Given the description of an element on the screen output the (x, y) to click on. 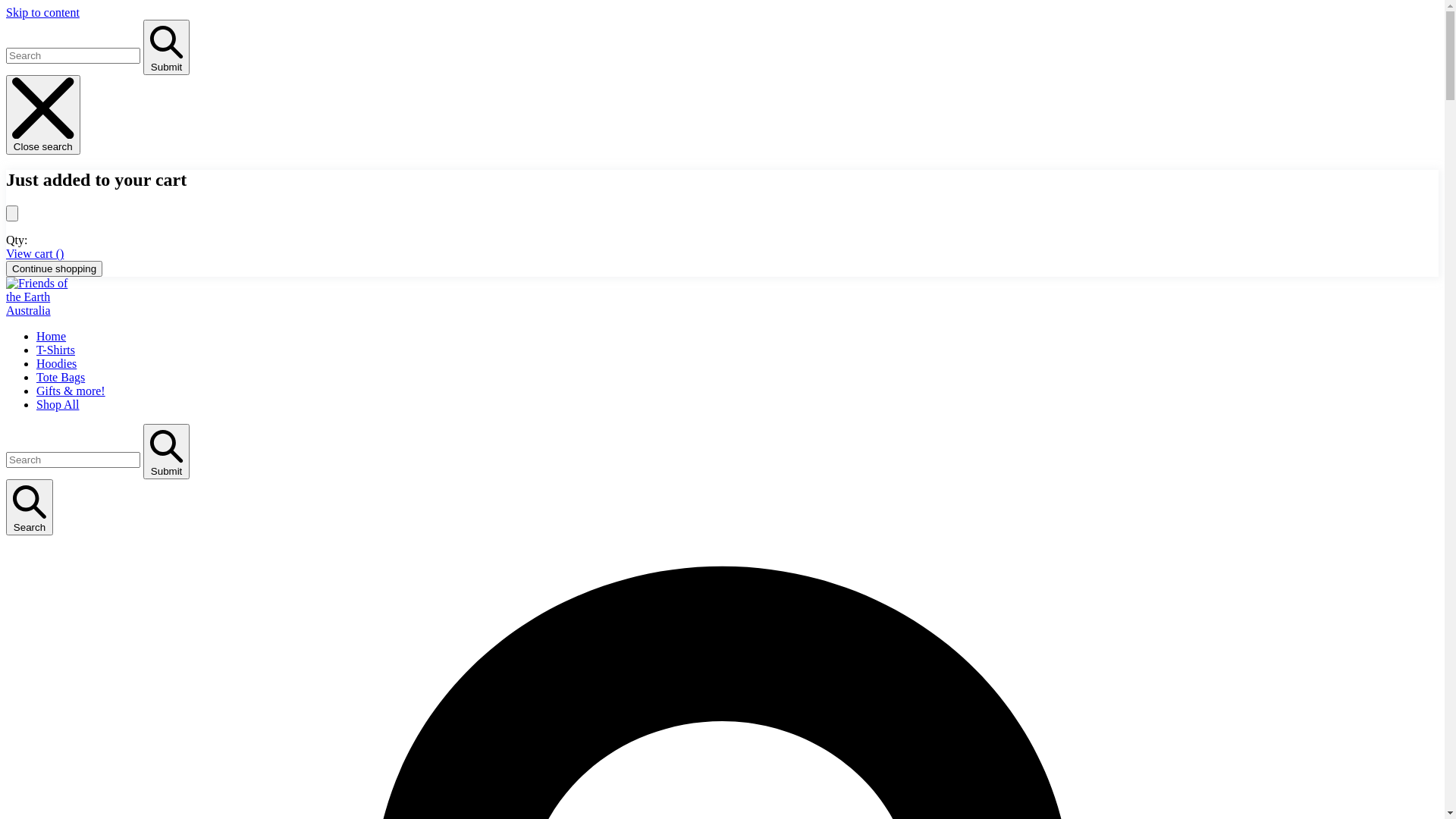
Tote Bags Element type: text (60, 376)
Gifts & more! Element type: text (70, 390)
View cart () Element type: text (34, 253)
Close search Element type: text (43, 115)
Skip to content Element type: text (42, 12)
Continue shopping Element type: text (54, 268)
Home Element type: text (50, 335)
Shop All Element type: text (57, 404)
Submit Element type: text (166, 451)
Search Element type: text (29, 507)
Hoodies Element type: text (56, 363)
T-Shirts Element type: text (55, 349)
Submit Element type: text (166, 47)
